Given the description of an element on the screen output the (x, y) to click on. 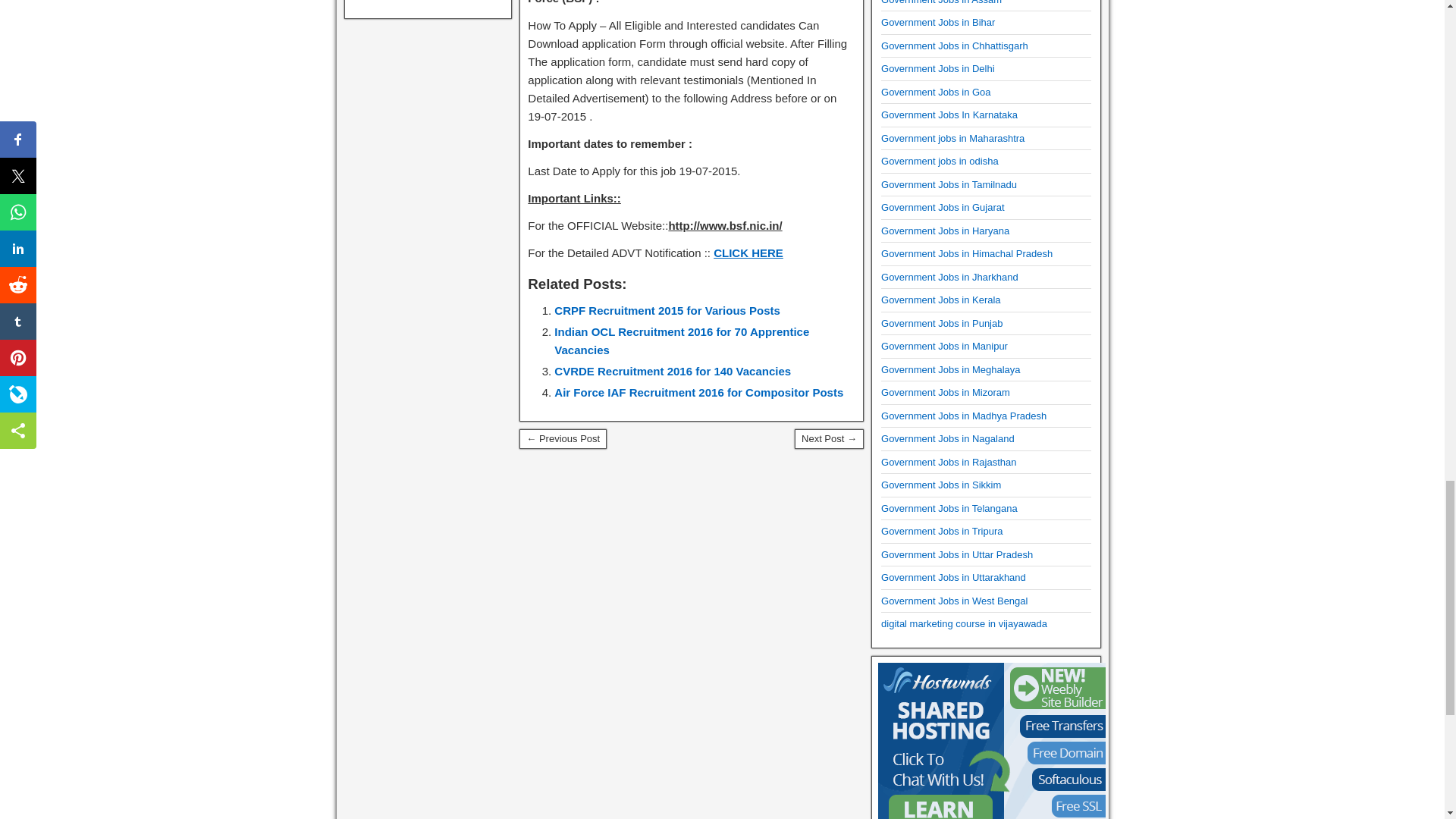
Air Force IAF Recruitment 2016 for Compositor Posts (698, 391)
CVRDE Recruitment 2016 for 140 Vacancies (672, 370)
CLICK HERE (748, 252)
CRPF Recruitment 2015 for Various Posts (667, 309)
AIIMS Raipur Recruitment 2015 for 133 Posts (828, 438)
CVRDE Recruitment 2016 for 140 Vacancies (672, 370)
Air Force IAF Recruitment 2016 for Compositor Posts (698, 391)
CRPF Recruitment 2015 for Various Posts (667, 309)
Indian OCL Recruitment 2016 for 70 Apprentice Vacancies (681, 340)
Indian OCL Recruitment 2016 for 70 Apprentice Vacancies (681, 340)
